Given the description of an element on the screen output the (x, y) to click on. 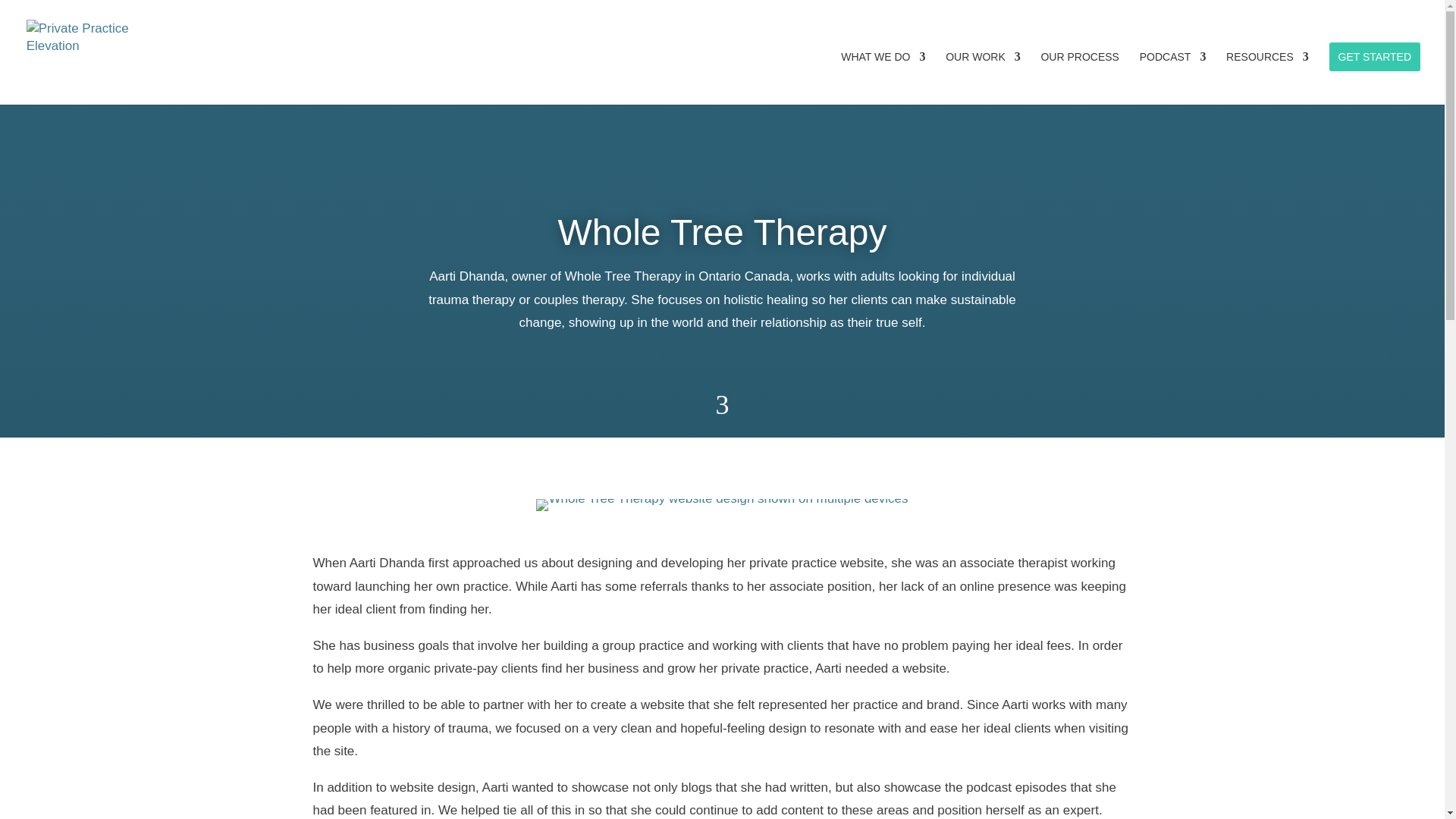
GET STARTED (1375, 56)
whole-tree-macbook-ipad-iphone (721, 504)
WHAT WE DO (882, 77)
RESOURCES (1266, 77)
OUR WORK (982, 77)
OUR PROCESS (1079, 77)
PODCAST (1173, 77)
